Given the description of an element on the screen output the (x, y) to click on. 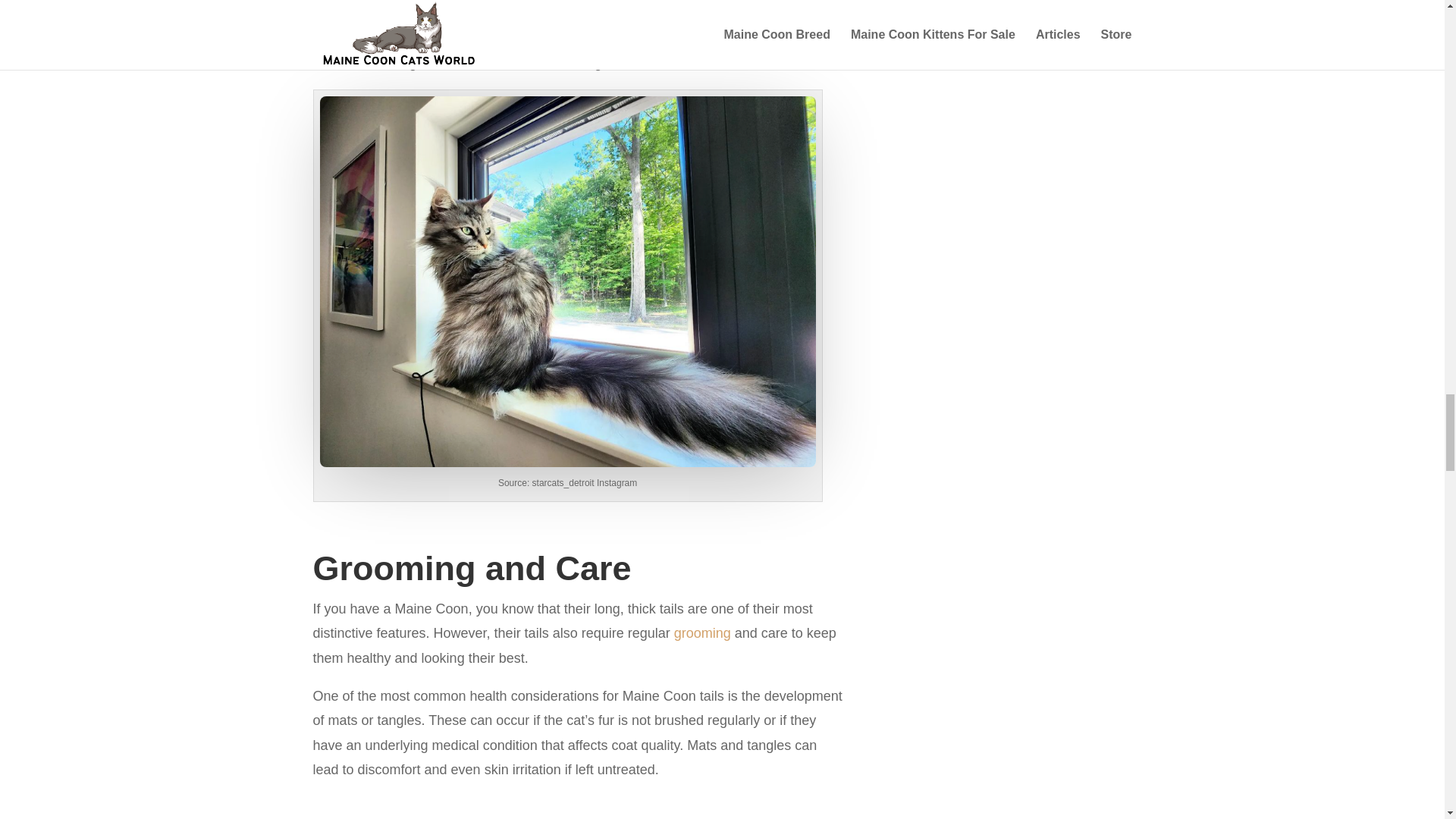
grooming (702, 632)
grooming (702, 632)
